Given the description of an element on the screen output the (x, y) to click on. 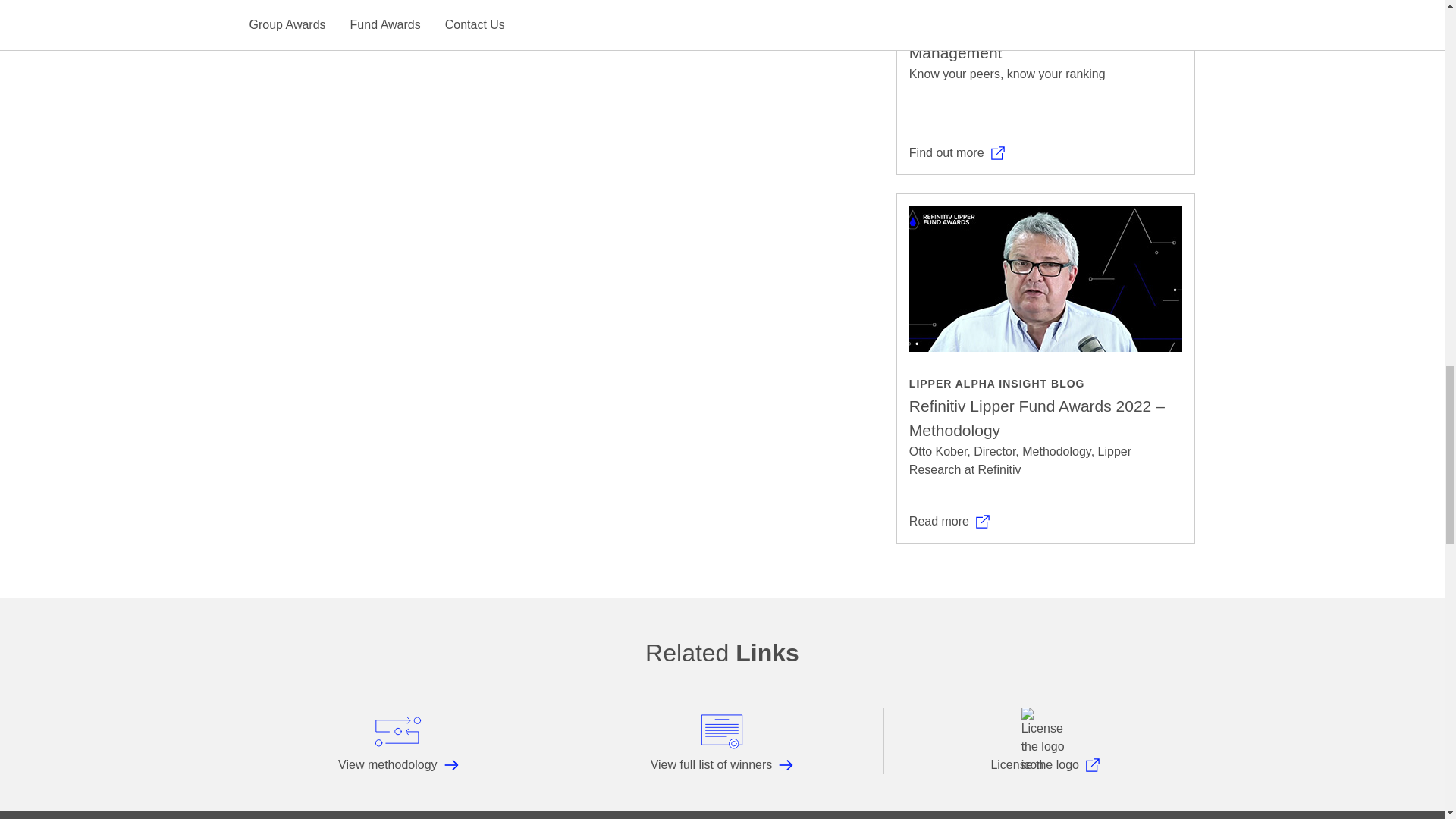
external (982, 521)
external (998, 152)
